Given the description of an element on the screen output the (x, y) to click on. 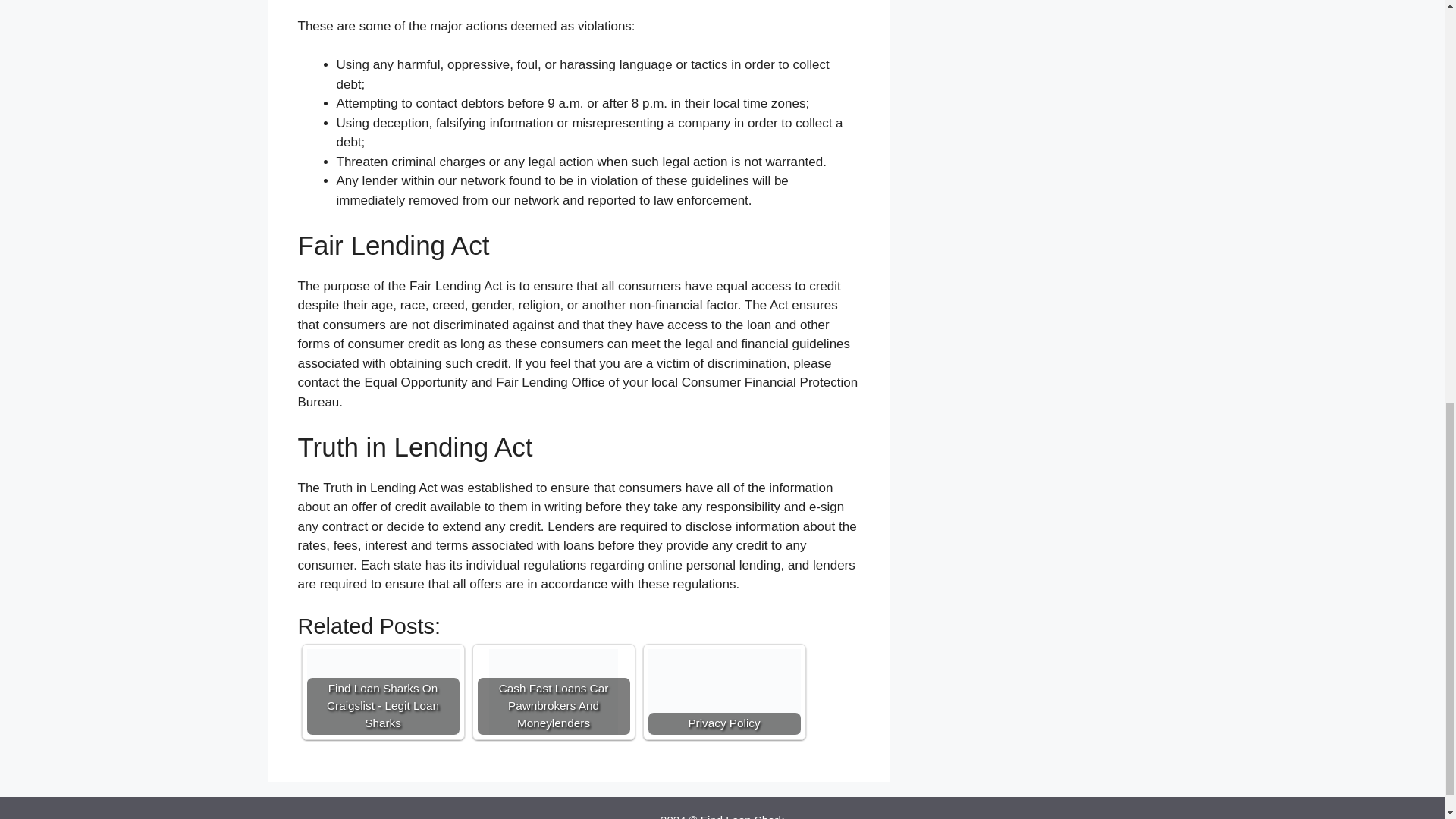
Find Loan Sharks On Craigslist - Legit Loan Sharks (381, 691)
Find Loan Sharks On Craigslist - Legit Loan Sharks (381, 691)
Cash Fast Loans Car Pawnbrokers And Moneylenders (553, 691)
Privacy Policy (723, 691)
Find Loan Shark (742, 816)
Privacy Policy (723, 691)
Cash Fast Loans Car Pawnbrokers And Moneylenders (553, 691)
